Given the description of an element on the screen output the (x, y) to click on. 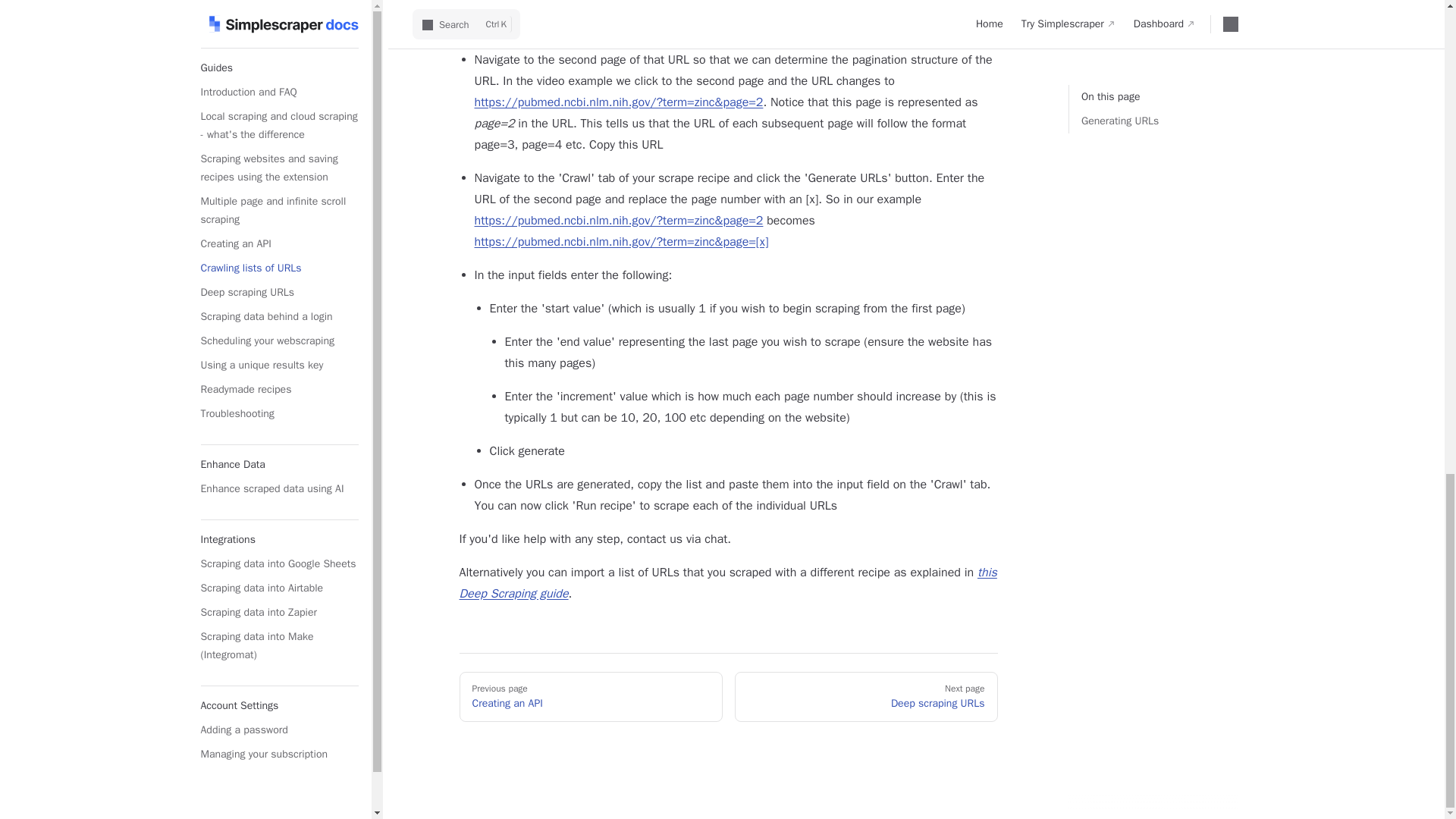
this Deep Scraping guide (728, 583)
